Given the description of an element on the screen output the (x, y) to click on. 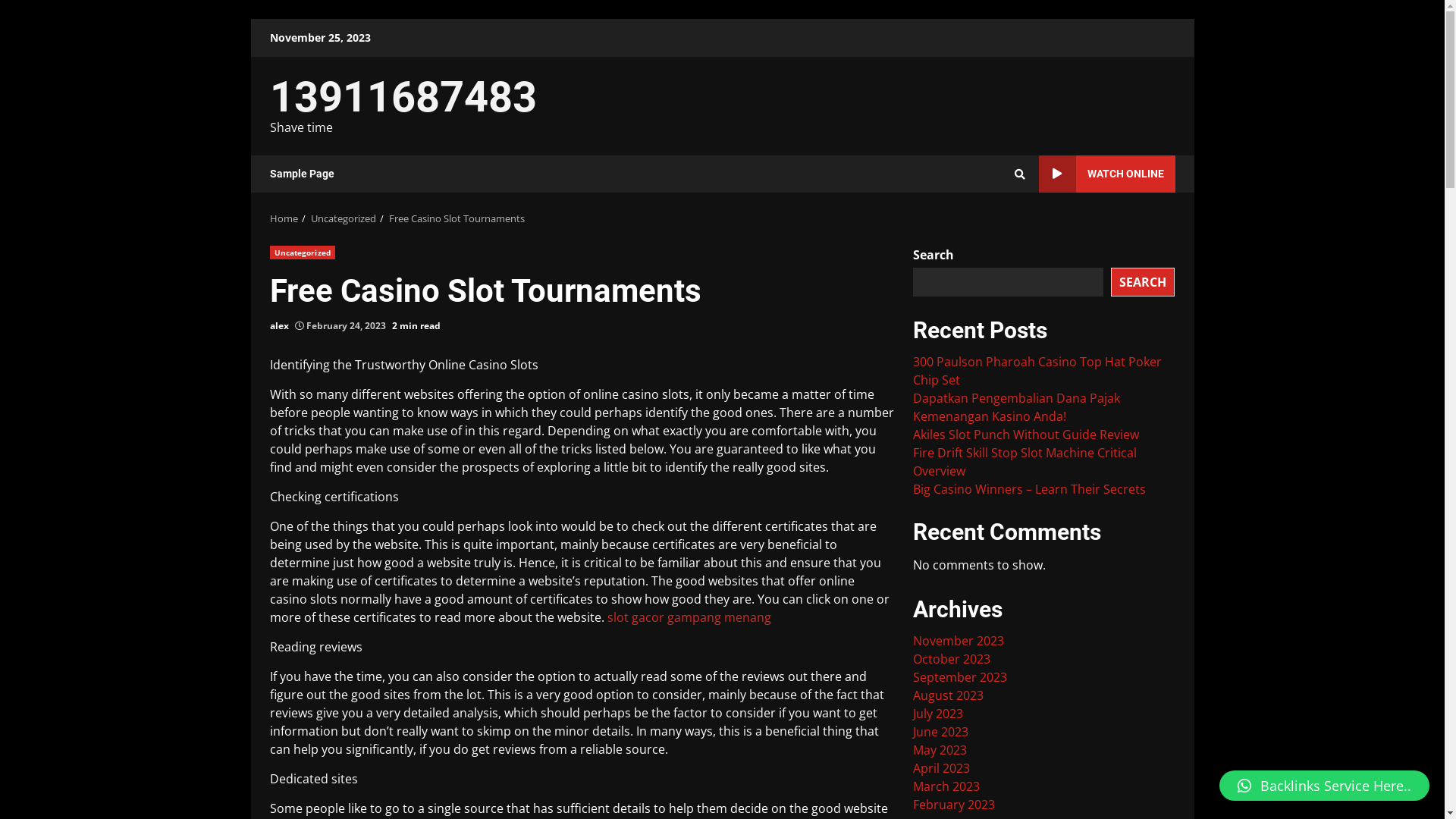
Uncategorized Element type: text (302, 252)
September 2023 Element type: text (960, 676)
Backlinks Service Here.. Element type: text (1324, 785)
slot gacor gampang menang Element type: text (688, 616)
alex Element type: text (278, 325)
June 2023 Element type: text (940, 731)
13911687483 Element type: text (402, 97)
April 2023 Element type: text (941, 767)
Fire Drift Skill Stop Slot Machine Critical Overview Element type: text (1024, 461)
Sample Page Element type: text (301, 173)
July 2023 Element type: text (938, 713)
Akiles Slot Punch Without Guide Review Element type: text (1026, 434)
March 2023 Element type: text (946, 786)
November 2023 Element type: text (958, 640)
February 2023 Element type: text (953, 804)
Uncategorized Element type: text (343, 218)
May 2023 Element type: text (939, 749)
300 Paulson Pharoah Casino Top Hat Poker Chip Set Element type: text (1037, 370)
Skip to content Element type: text (250, 18)
October 2023 Element type: text (951, 658)
Home Element type: text (283, 218)
Dapatkan Pengembalian Dana Pajak Kemenangan Kasino Anda! Element type: text (1016, 406)
August 2023 Element type: text (948, 695)
WATCH ONLINE Element type: text (1106, 173)
Free Casino Slot Tournaments Element type: text (456, 218)
SEARCH Element type: text (1142, 280)
Search Element type: text (991, 225)
Search Element type: hover (1019, 173)
